Given the description of an element on the screen output the (x, y) to click on. 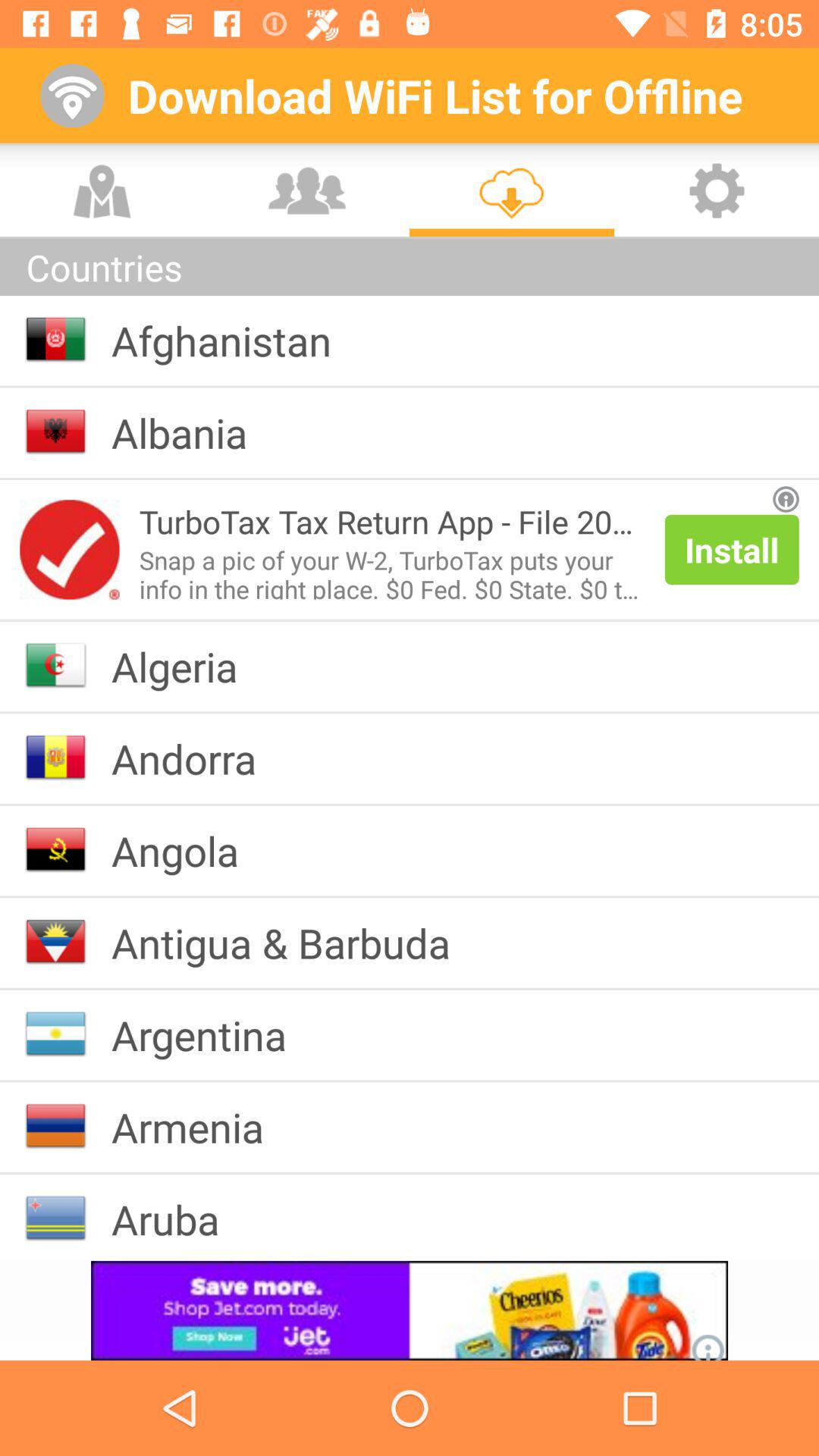
choose item to the left of the install button (391, 571)
